Given the description of an element on the screen output the (x, y) to click on. 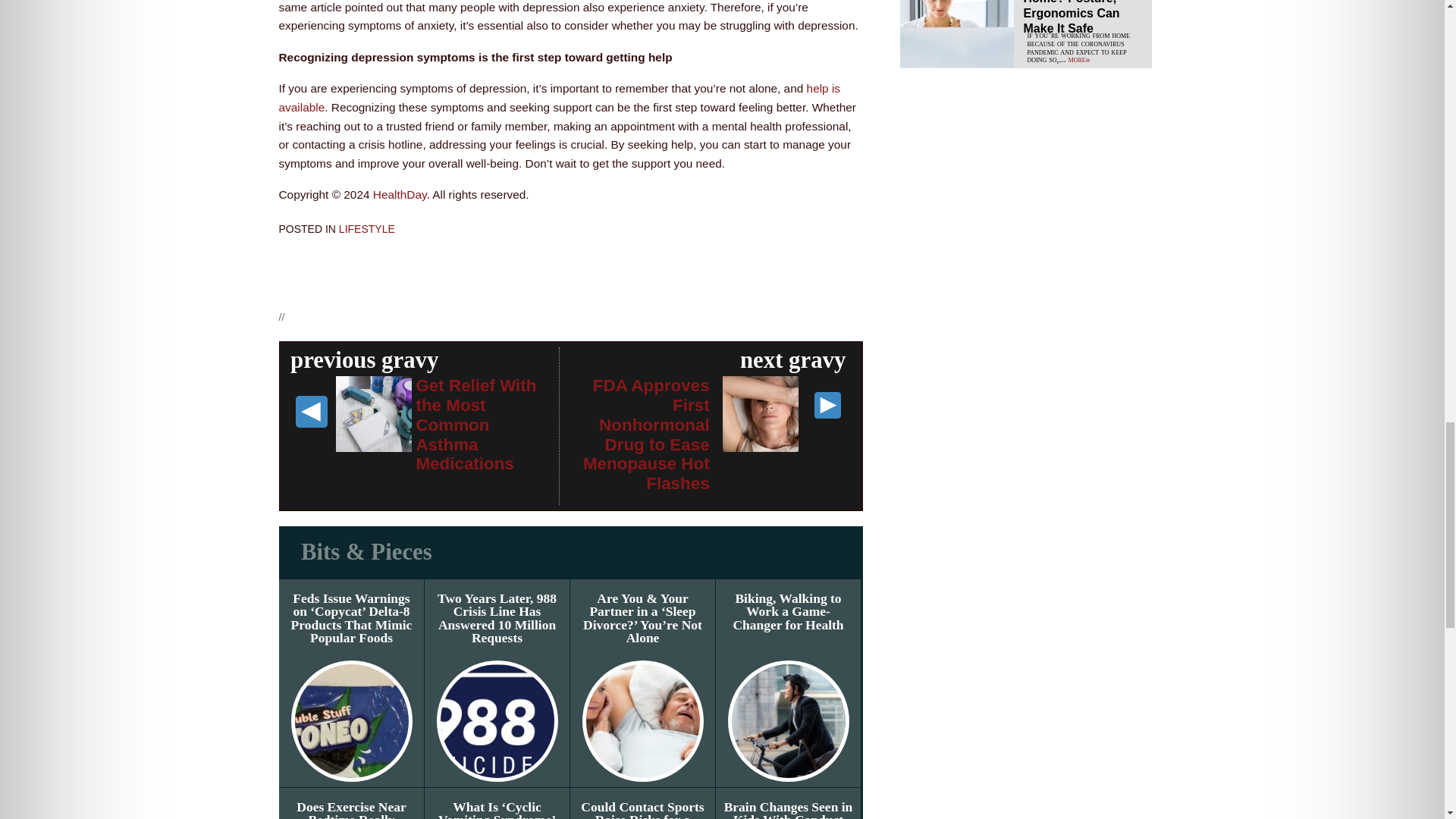
HealthDay (399, 194)
LIFESTYLE (366, 228)
HealthDay (399, 194)
help is available (560, 97)
